Given the description of an element on the screen output the (x, y) to click on. 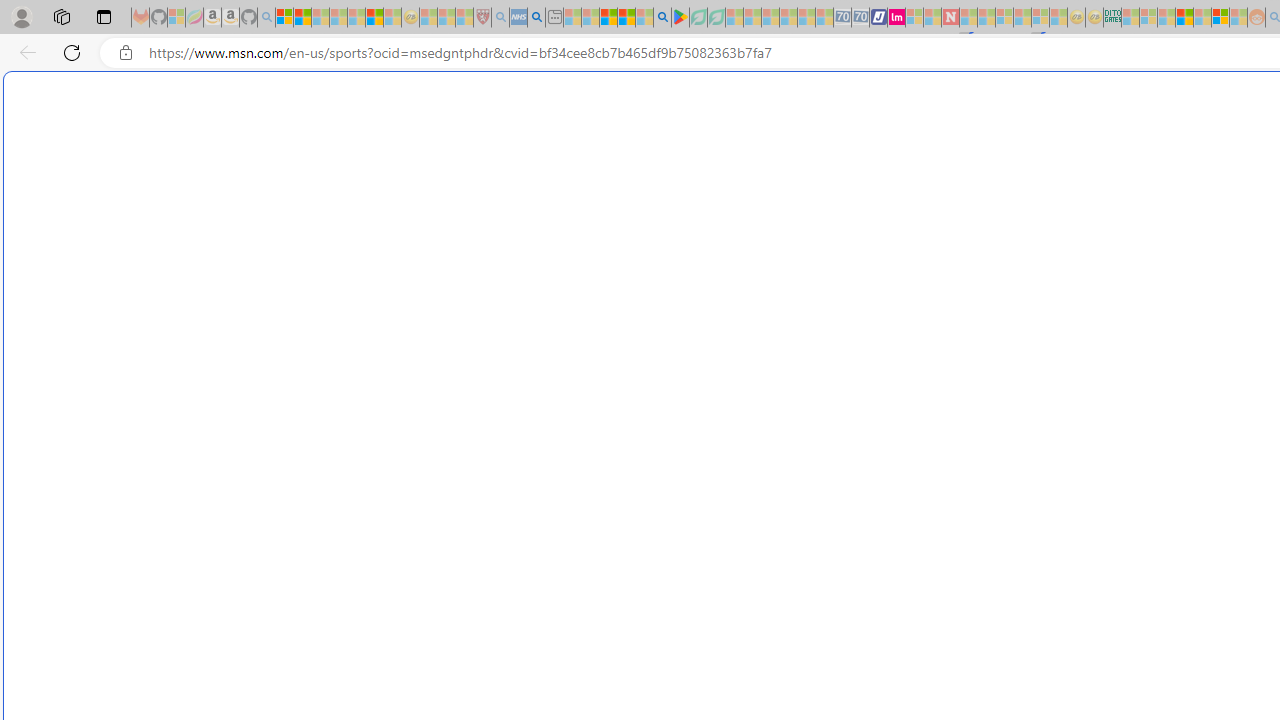
Jobs - lastminute.com Investor Portal (896, 17)
